Given the description of an element on the screen output the (x, y) to click on. 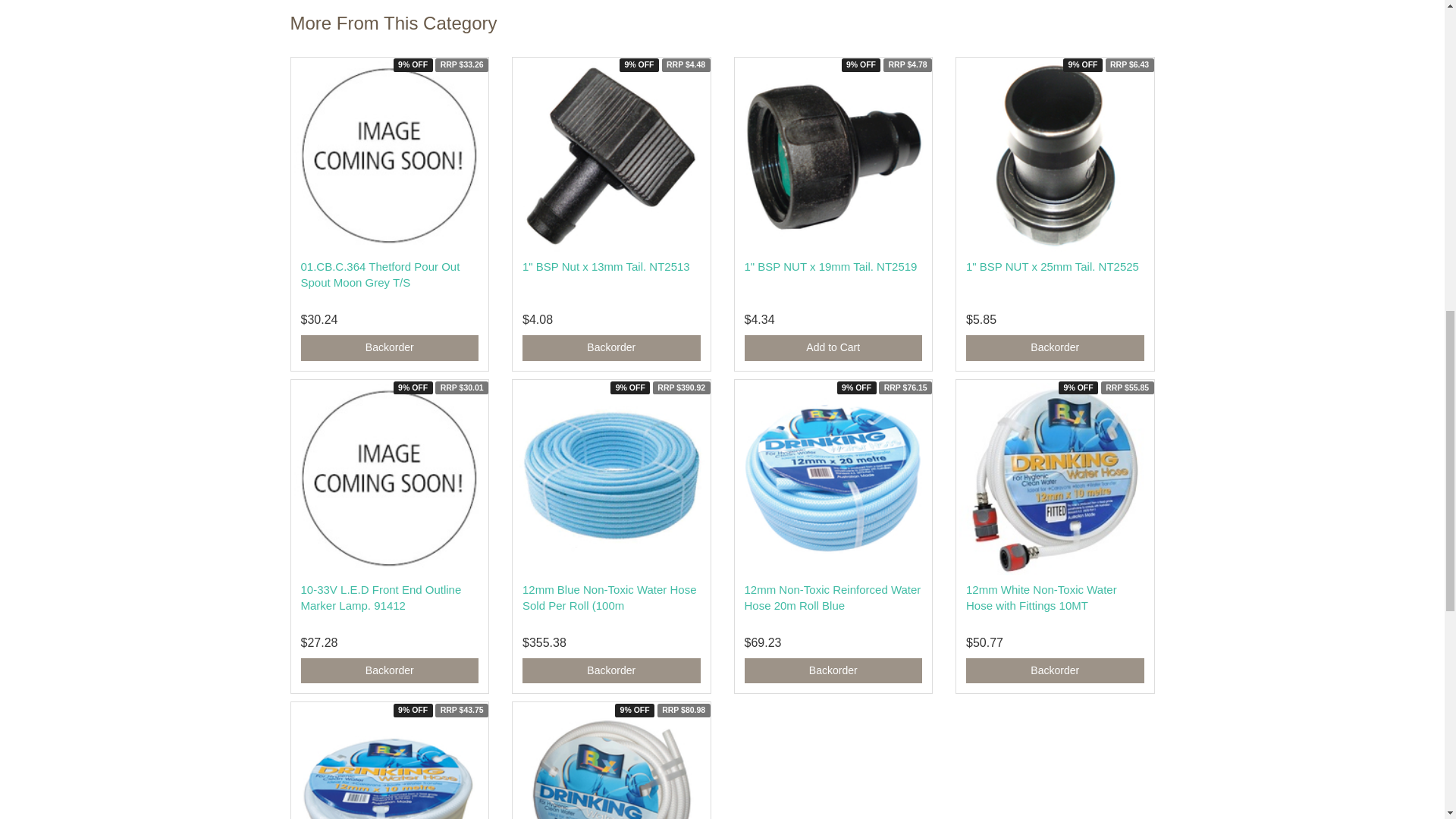
1" BSP NUT x 25mm Tail. NT2525 (1052, 266)
1" BSP NUT x 19mm Tail. NT2519 (830, 266)
Add to Cart (833, 670)
1" BSP Nut x 13mm Tail. NT2513 (606, 266)
Add to Cart (611, 670)
Add to Cart (611, 347)
10-33V L.E.D Front End Outline Marker Lamp. 91412 (380, 596)
Add to Cart (1055, 347)
Add to Cart (833, 347)
12mm White Non-Toxic Water Hose with Fittings 10MT. 25DWX10F (1041, 596)
Add to Cart (389, 670)
Add to Cart (389, 347)
12mm Non-Toxic Reinforced Water Hose 20m Roll Blue 25DWBX20 (832, 596)
Add to Cart (1055, 670)
